Given the description of an element on the screen output the (x, y) to click on. 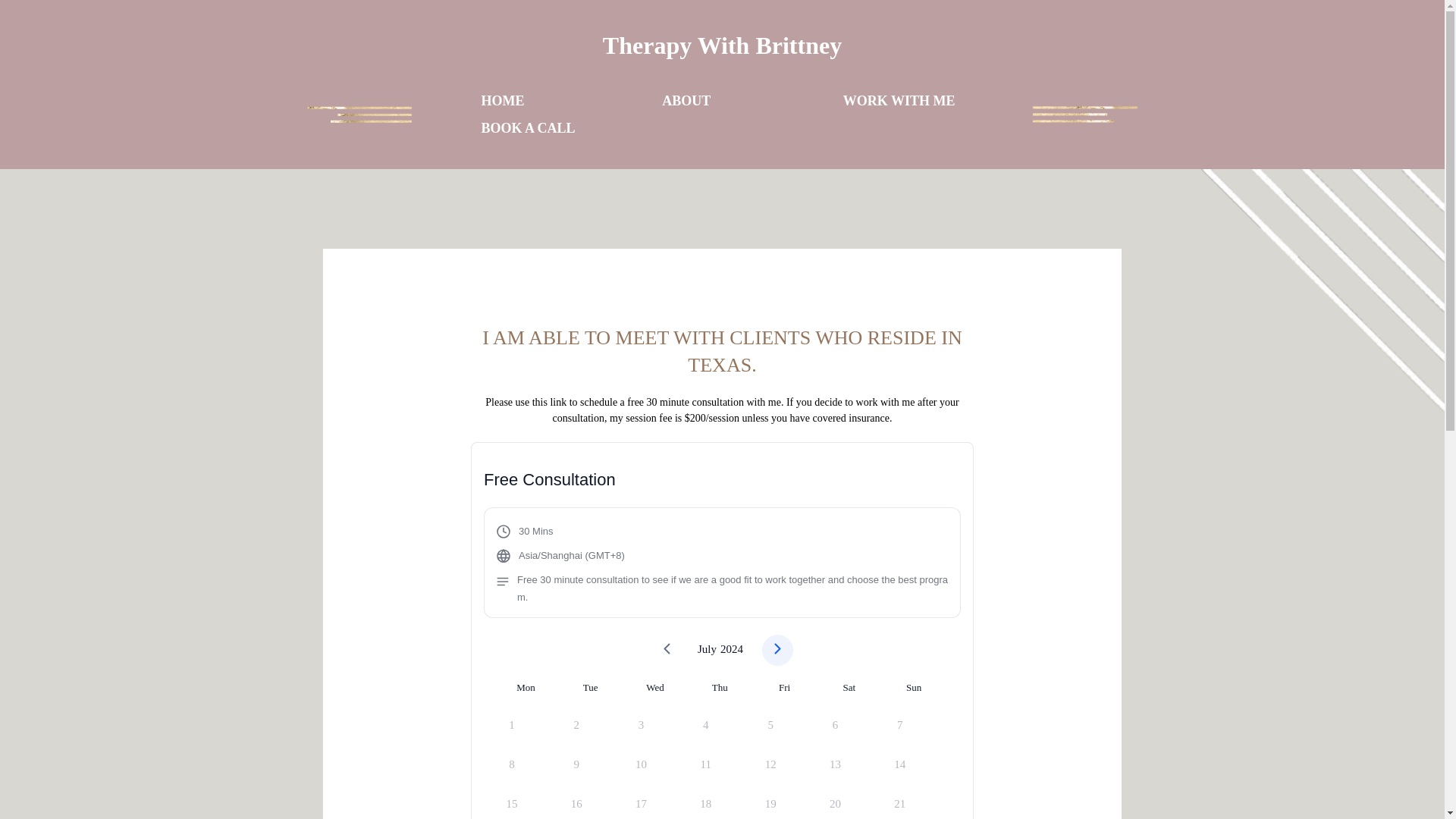
WORK WITH ME (899, 100)
ABOUT (686, 100)
HOME (502, 100)
BOOK A CALL (528, 127)
